Given the description of an element on the screen output the (x, y) to click on. 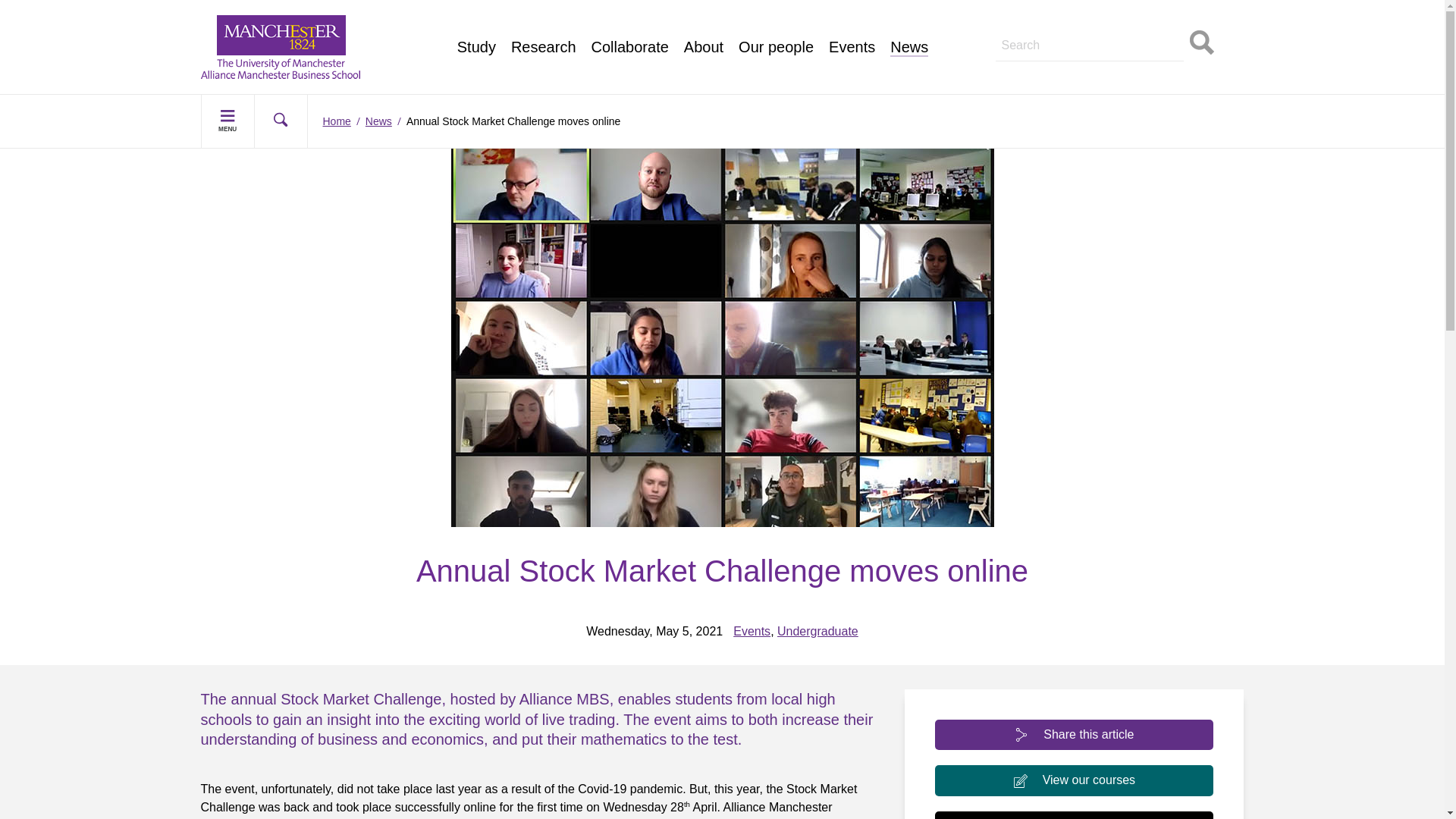
Study (476, 46)
Global Part-time MBA (274, 35)
Global Executive MBA (536, 17)
Global Executive MBA (275, 53)
Global Part-time MBA (535, 2)
MBA Rankings (516, 35)
Part-time MSc Financial Management (317, 17)
